Given the description of an element on the screen output the (x, y) to click on. 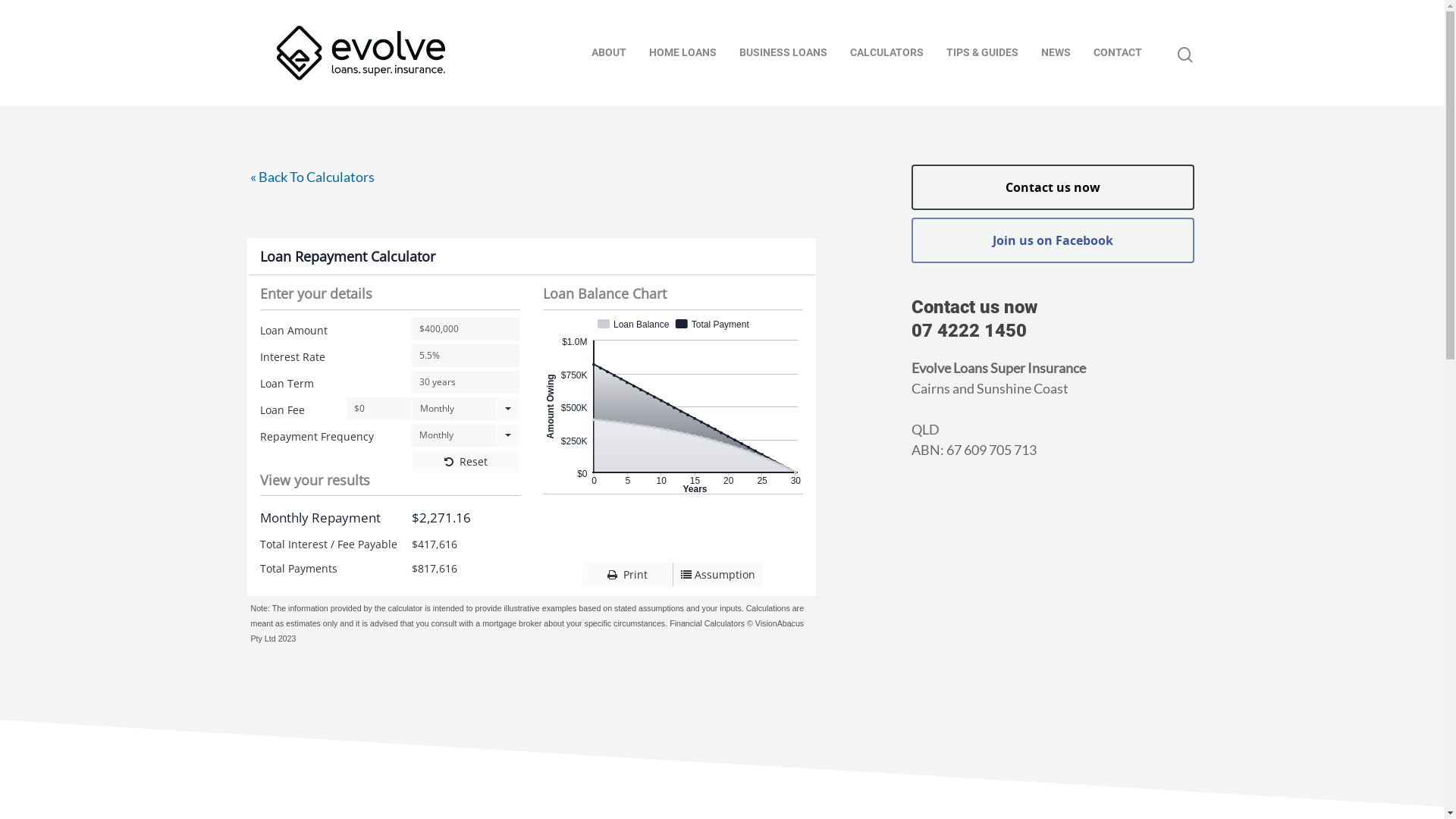
ABOUT Element type: text (608, 52)
07 4222 1450 Element type: text (968, 330)
CALCULATORS Element type: text (886, 52)
Contact us now Element type: text (1052, 187)
CONTACT Element type: text (1117, 52)
TIPS & GUIDES Element type: text (982, 52)
NEWS Element type: text (1055, 52)
BUSINESS LOANS Element type: text (783, 52)
HOME LOANS Element type: text (682, 52)
Join us on Facebook Element type: text (1052, 240)
